Given the description of an element on the screen output the (x, y) to click on. 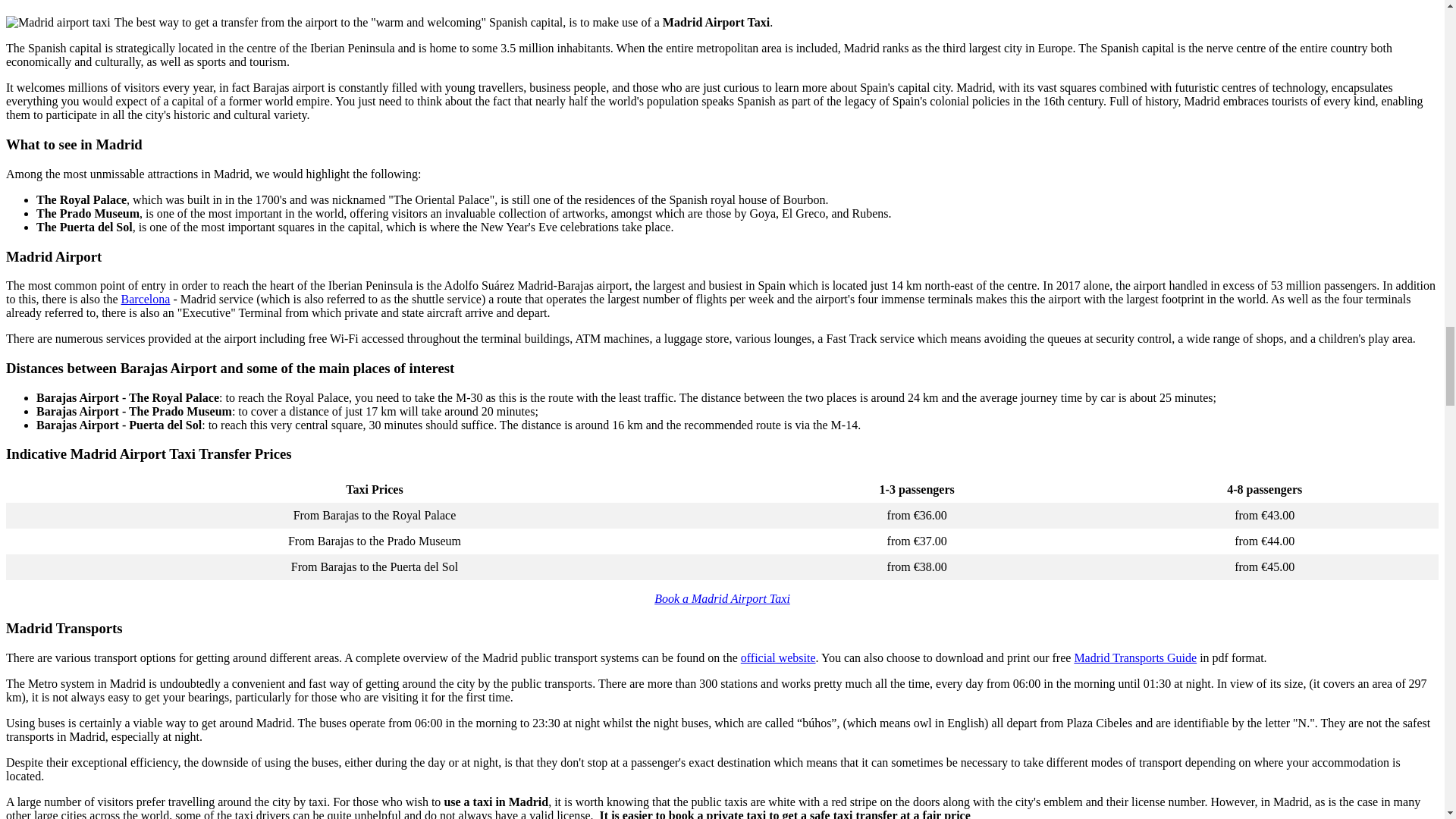
Madrid airport taxi (57, 22)
Book a Madrid Airport Taxi (721, 598)
